Given the description of an element on the screen output the (x, y) to click on. 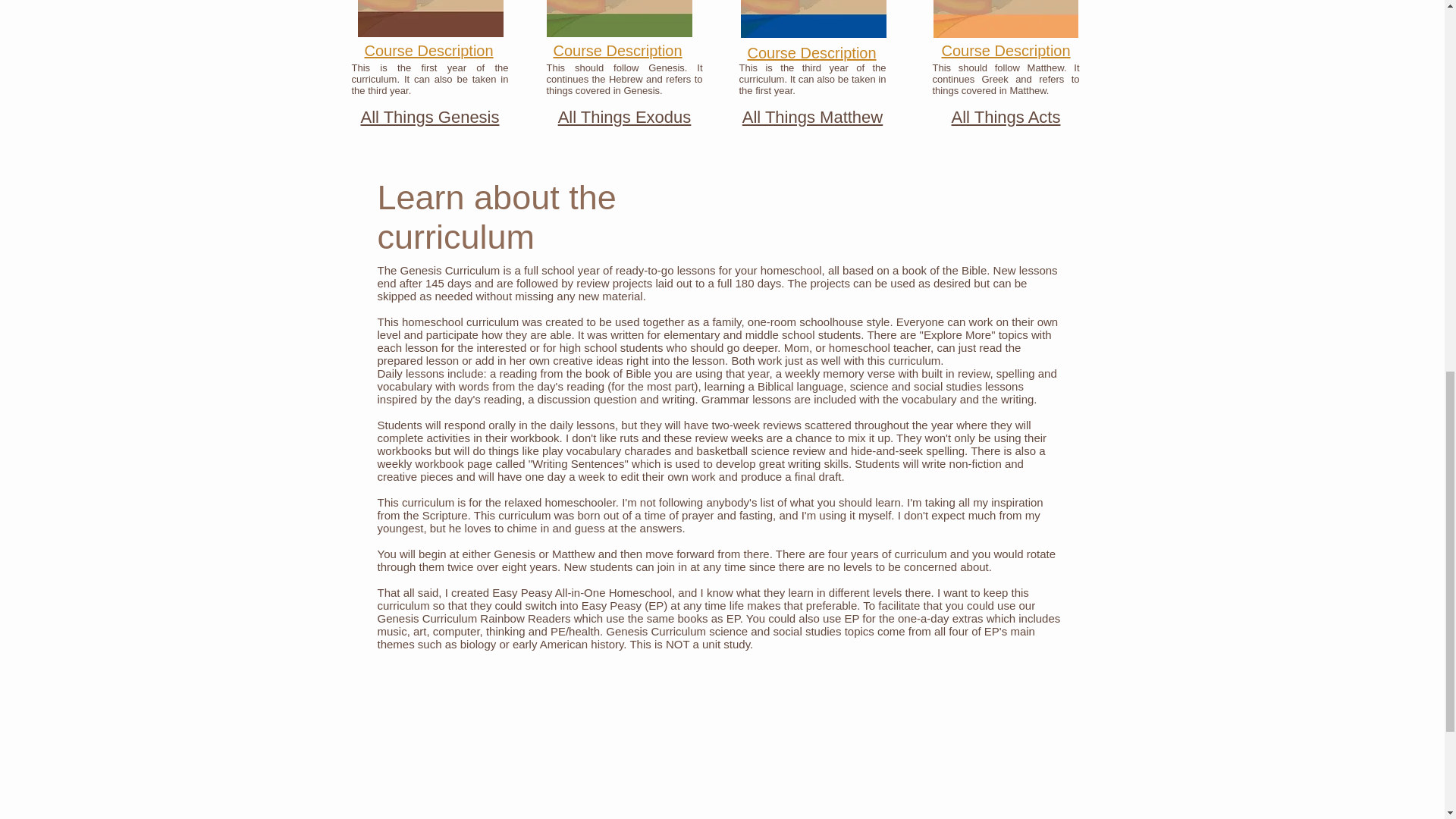
All Things Matthew (812, 116)
All Things Genesis (429, 116)
Course Description (812, 53)
Course Description (617, 50)
All Things Acts (1006, 116)
All Things Exodus (624, 116)
Course Description (428, 50)
Course Description (1006, 50)
